Given the description of an element on the screen output the (x, y) to click on. 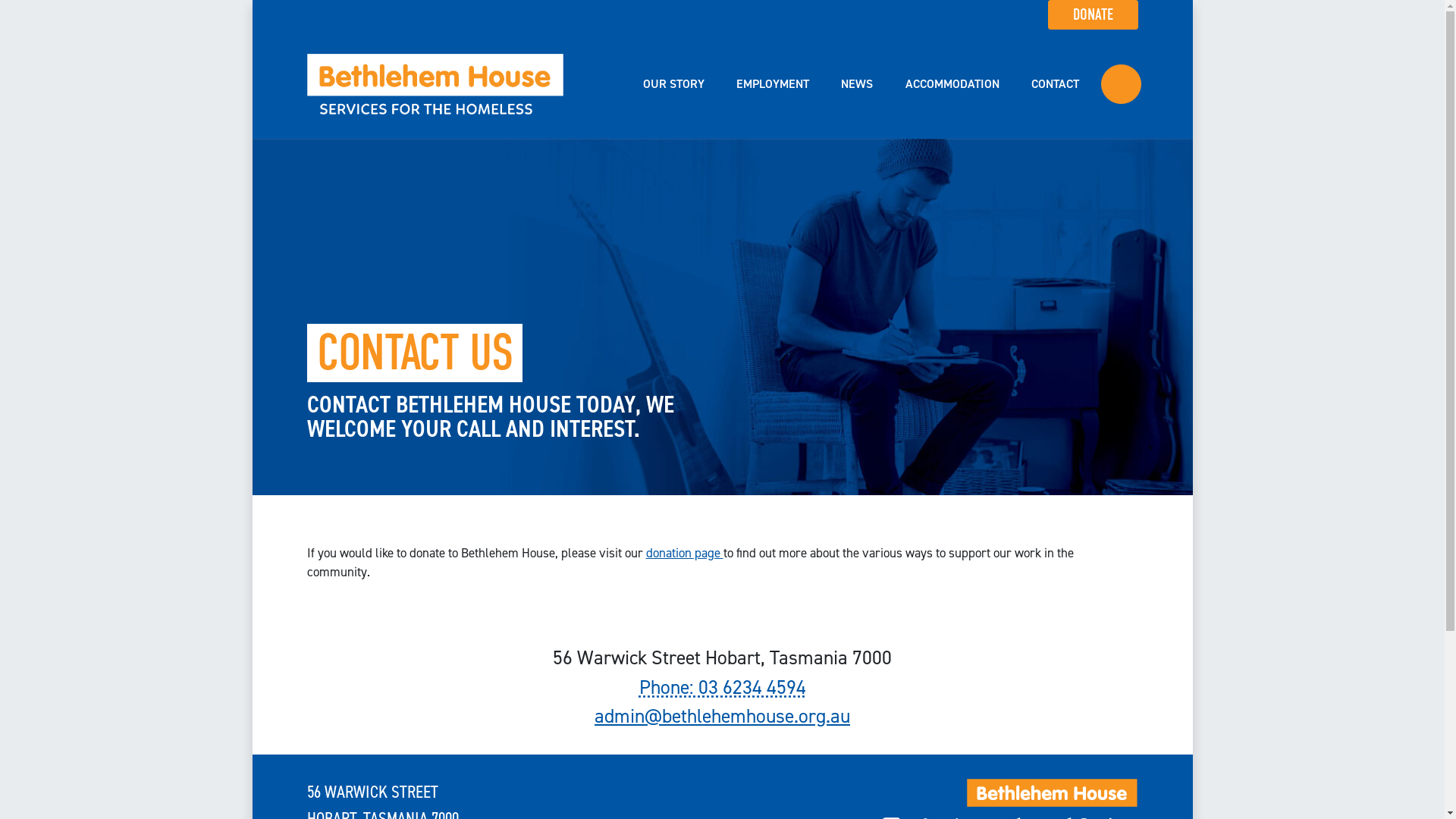
Phone: 03 6234 4594 Element type: text (721, 686)
donation page Element type: text (684, 552)
CONTACT Element type: text (1055, 84)
Facebook Element type: hover (1121, 84)
NEWS Element type: text (856, 84)
admin@bethlehemhouse.org.au Element type: text (722, 715)
EMPLOYMENT Element type: text (772, 84)
DONATE Element type: text (1093, 14)
OUR STORY Element type: text (673, 84)
ACCOMMODATION Element type: text (952, 84)
